Given the description of an element on the screen output the (x, y) to click on. 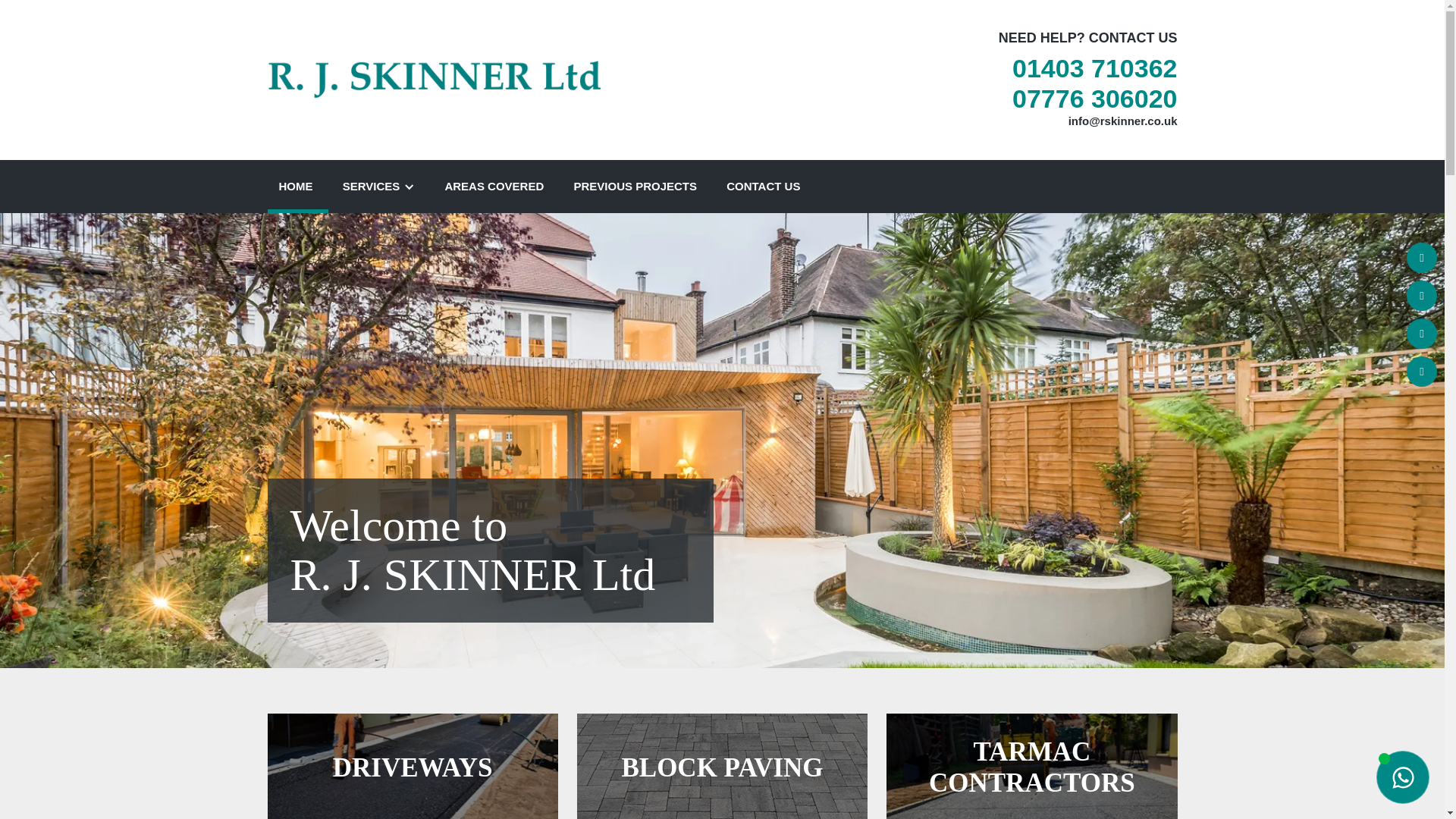
CONTACT US (764, 185)
DRIVEWAYS (411, 766)
HOME (296, 185)
PREVIOUS PROJECTS (636, 185)
01403 710362 (1093, 68)
07776 306020 (1093, 98)
BLOCK PAVING (721, 766)
AREAS COVERED (495, 185)
TARMAC CONTRACTORS (1031, 766)
